Given the description of an element on the screen output the (x, y) to click on. 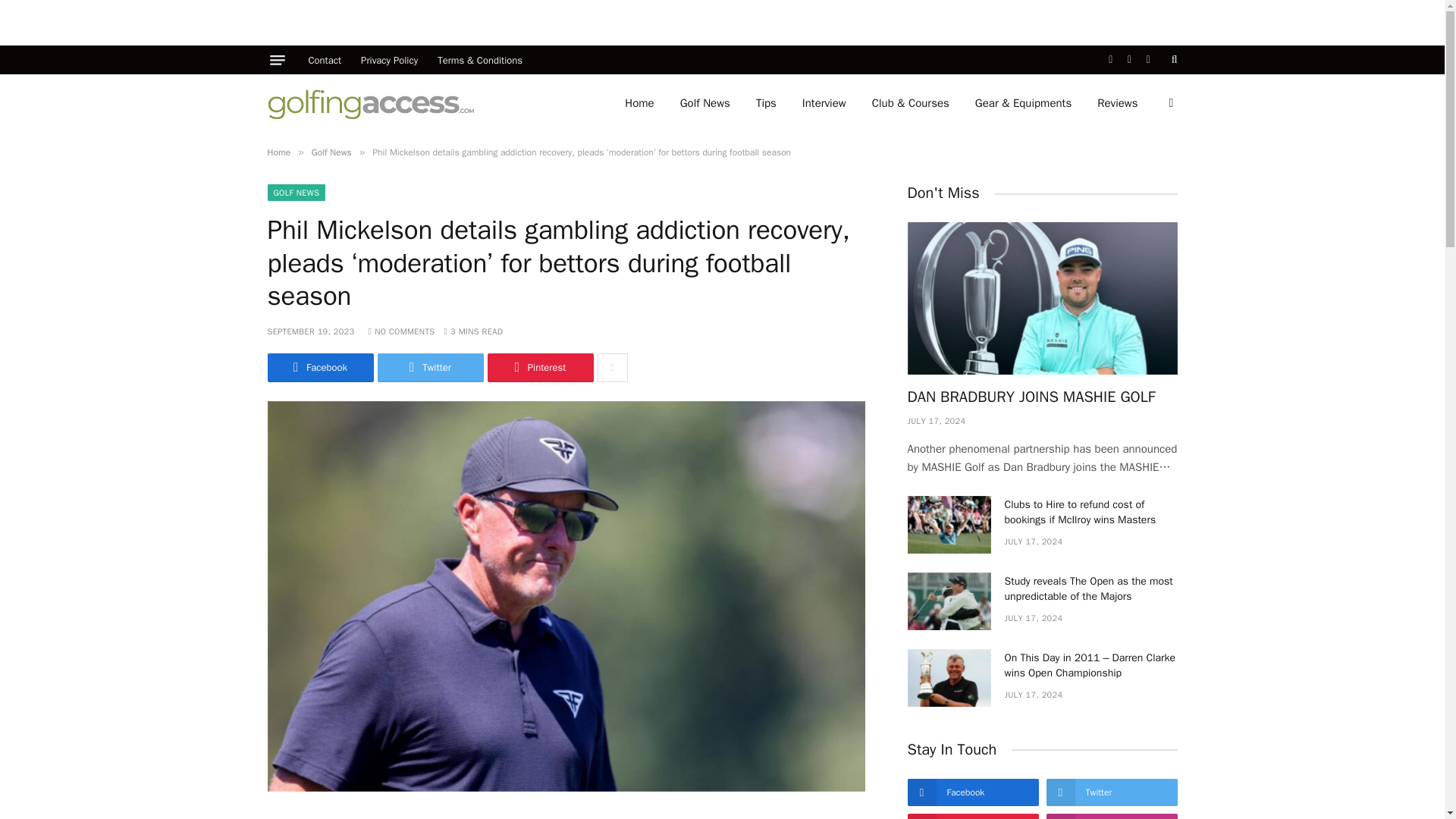
Switch to Dark Design - easier on eyes. (1168, 102)
Tips (765, 102)
Share on Facebook (319, 367)
Instagram (1148, 59)
Home (638, 102)
Interview (824, 102)
Golf News (704, 102)
Reviews (1117, 102)
Golfing Access (369, 102)
Facebook (1110, 59)
Contact (325, 59)
Share on Pinterest (539, 367)
Search (1173, 59)
Privacy Policy (389, 59)
